Given the description of an element on the screen output the (x, y) to click on. 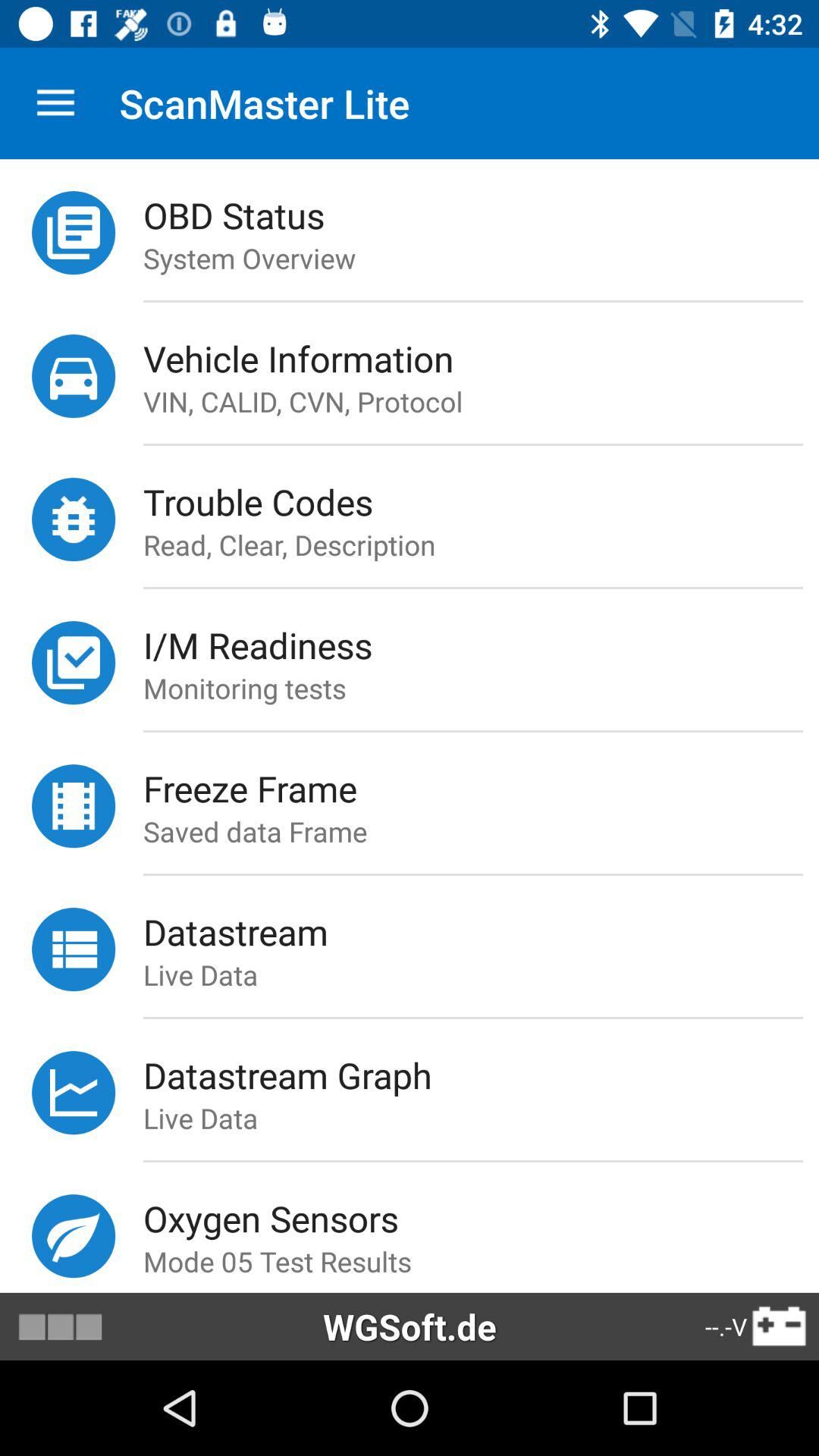
flip until mode 05 test (481, 1261)
